Given the description of an element on the screen output the (x, y) to click on. 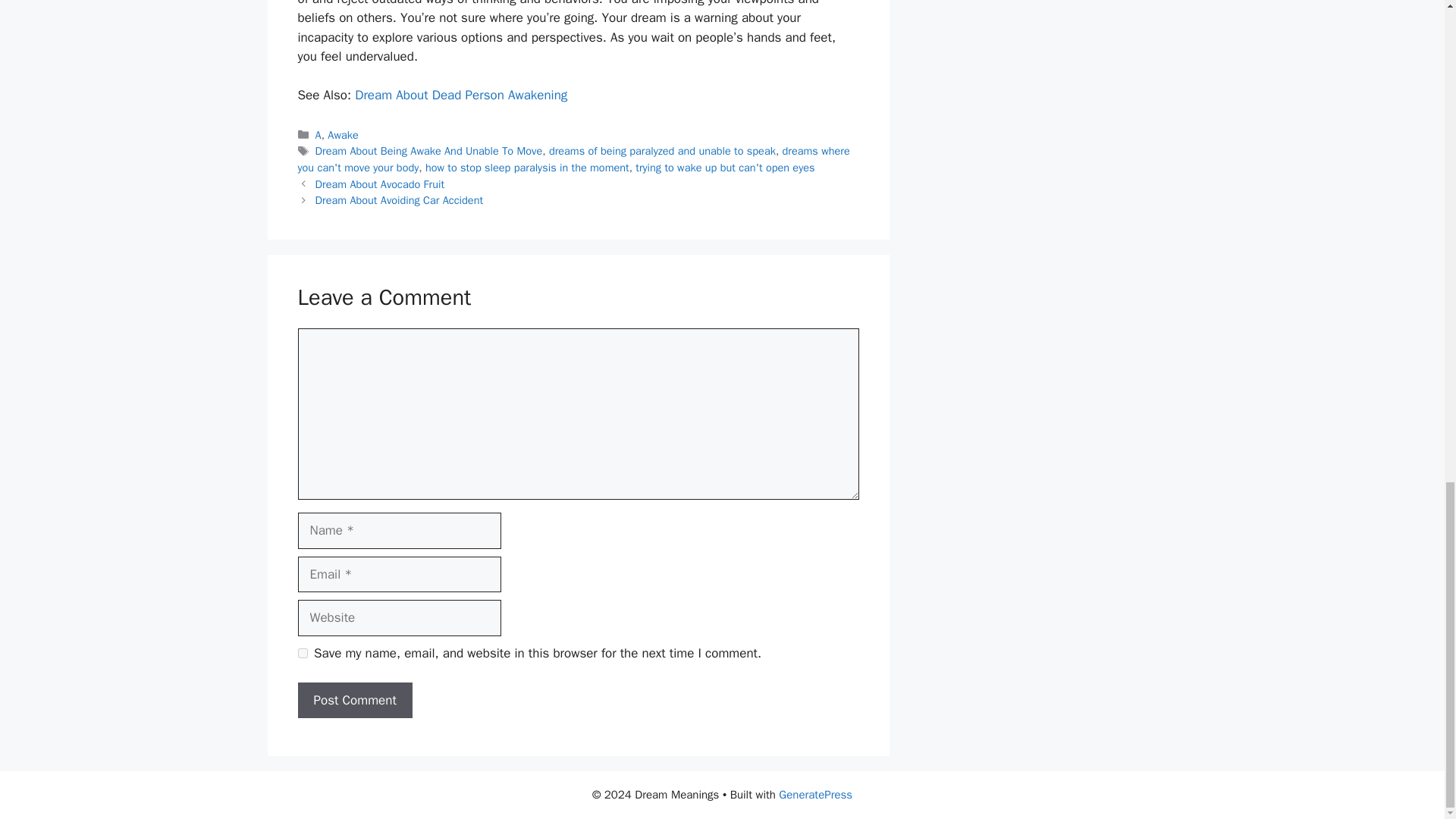
trying to wake up but can't open eyes (723, 167)
dreams of being paralyzed and unable to speak (662, 151)
Dream About Avoiding Car Accident (399, 200)
dreams where you can't move your body (572, 159)
Post Comment (354, 700)
yes (302, 653)
Awake (342, 134)
Dream About Being Awake And Unable To Move (429, 151)
Post Comment (354, 700)
Dream About Dead Person Awakening (461, 94)
